Given the description of an element on the screen output the (x, y) to click on. 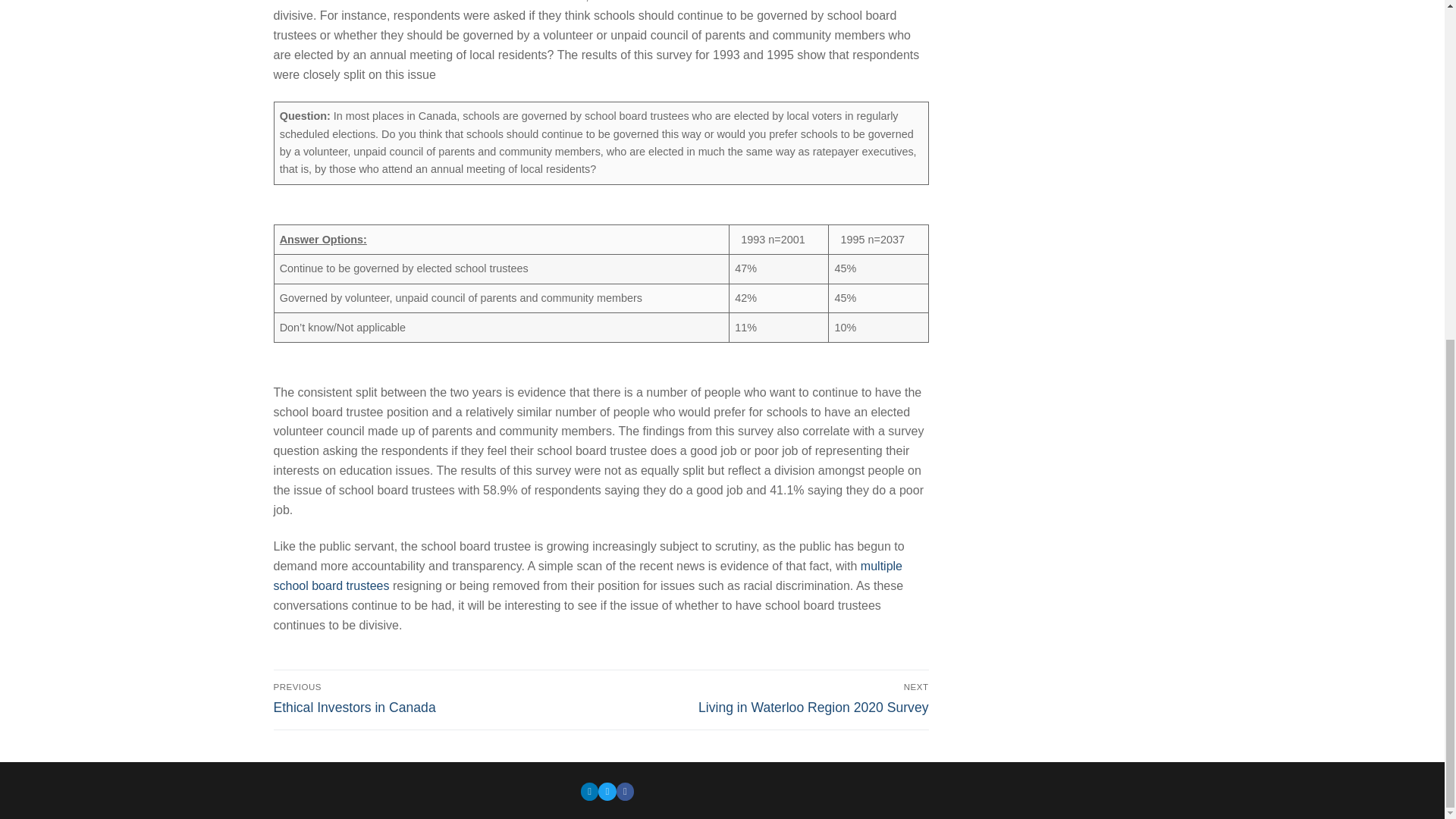
Linkedin (767, 698)
multiple school board trustees (589, 791)
Facebook (433, 698)
Twitter (587, 575)
